Given the description of an element on the screen output the (x, y) to click on. 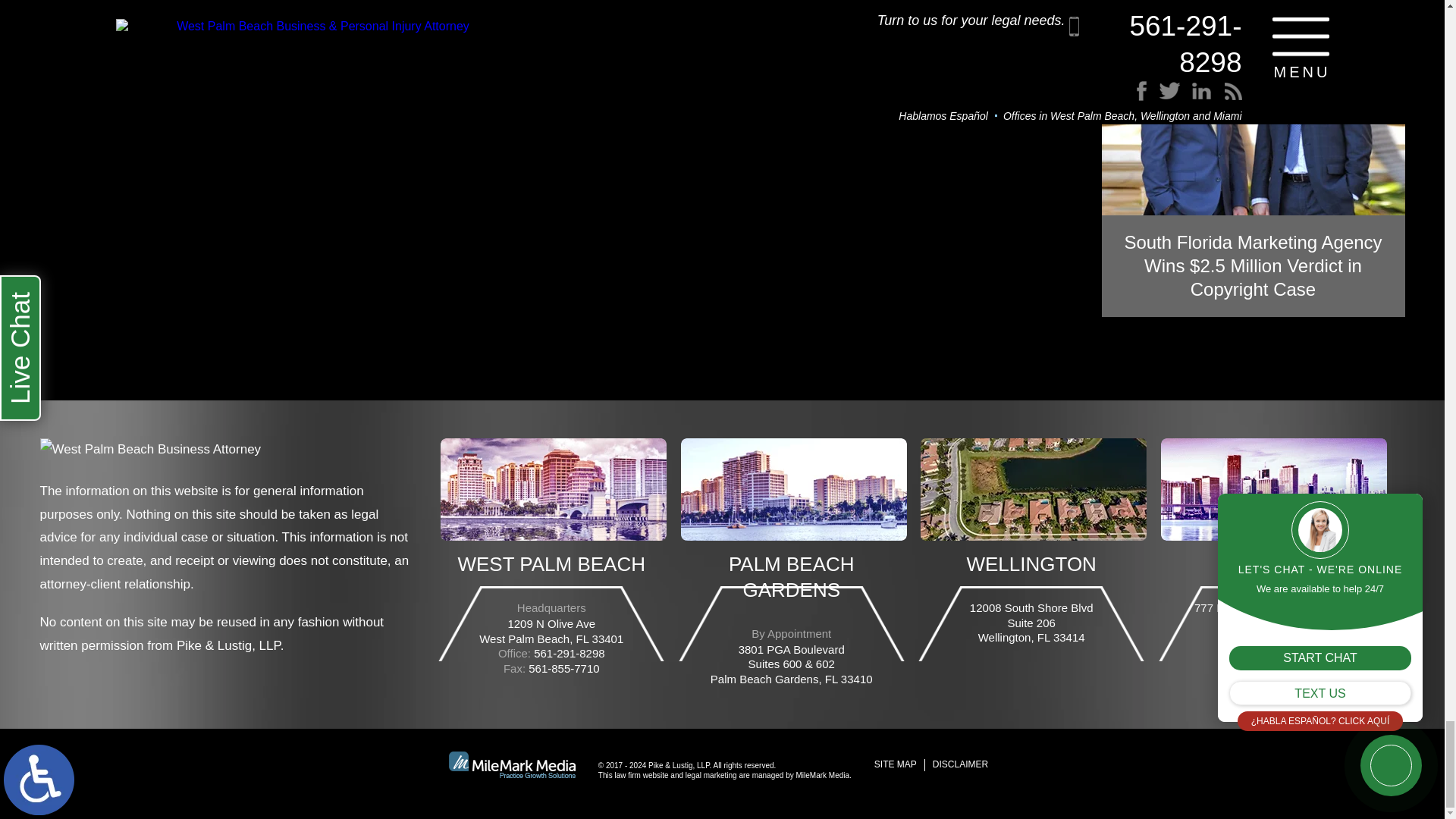
Wellington (1033, 489)
MileMark Media (511, 764)
Palm Beach Gardens (794, 489)
Miami (1273, 489)
West Palm Beach Business Attorney (149, 455)
West Palm Beach (553, 489)
